Given the description of an element on the screen output the (x, y) to click on. 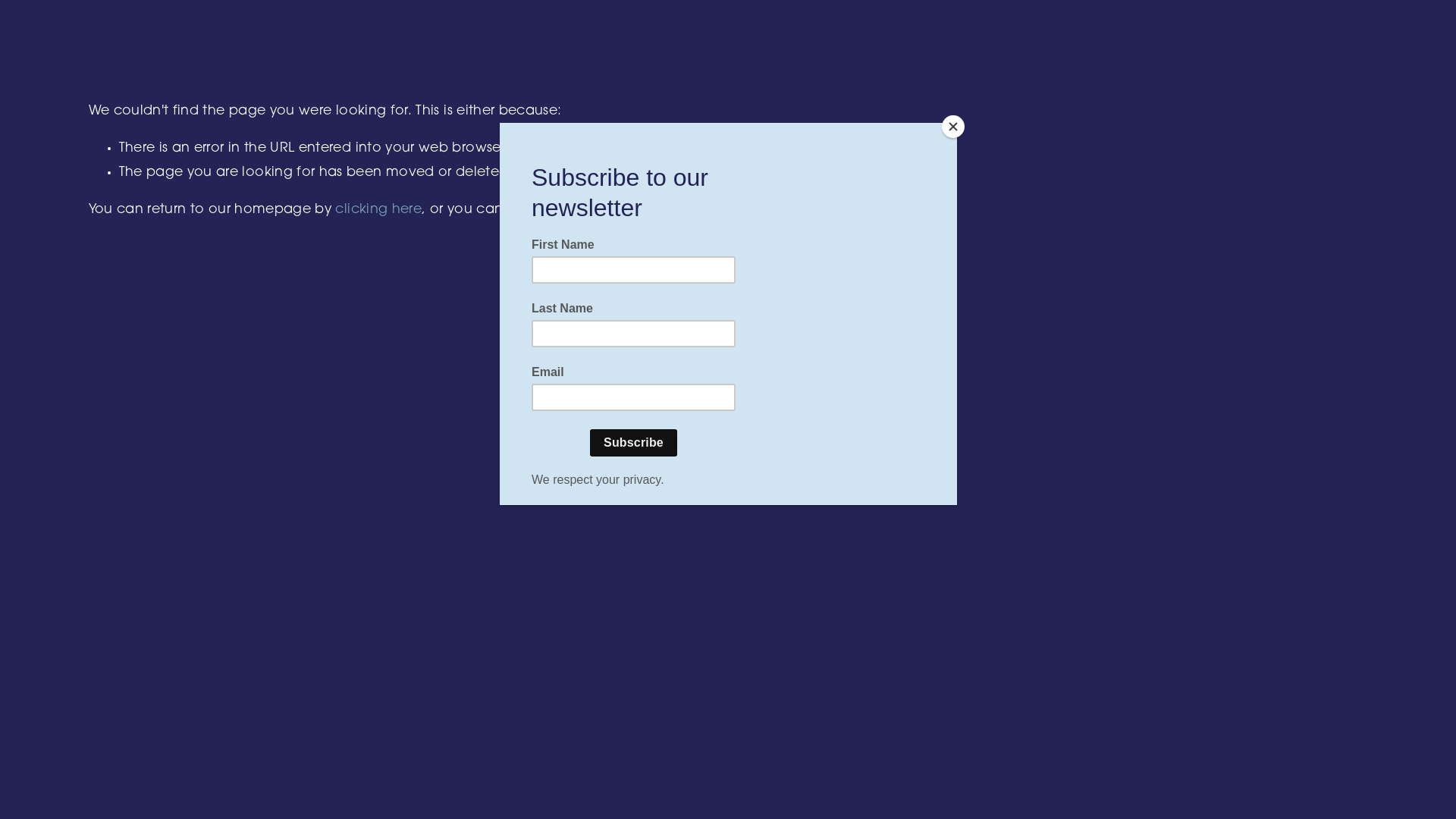
Sign Up Element type: text (723, 477)
clicking here Element type: text (378, 209)
clicking here Element type: text (877, 209)
